Given the description of an element on the screen output the (x, y) to click on. 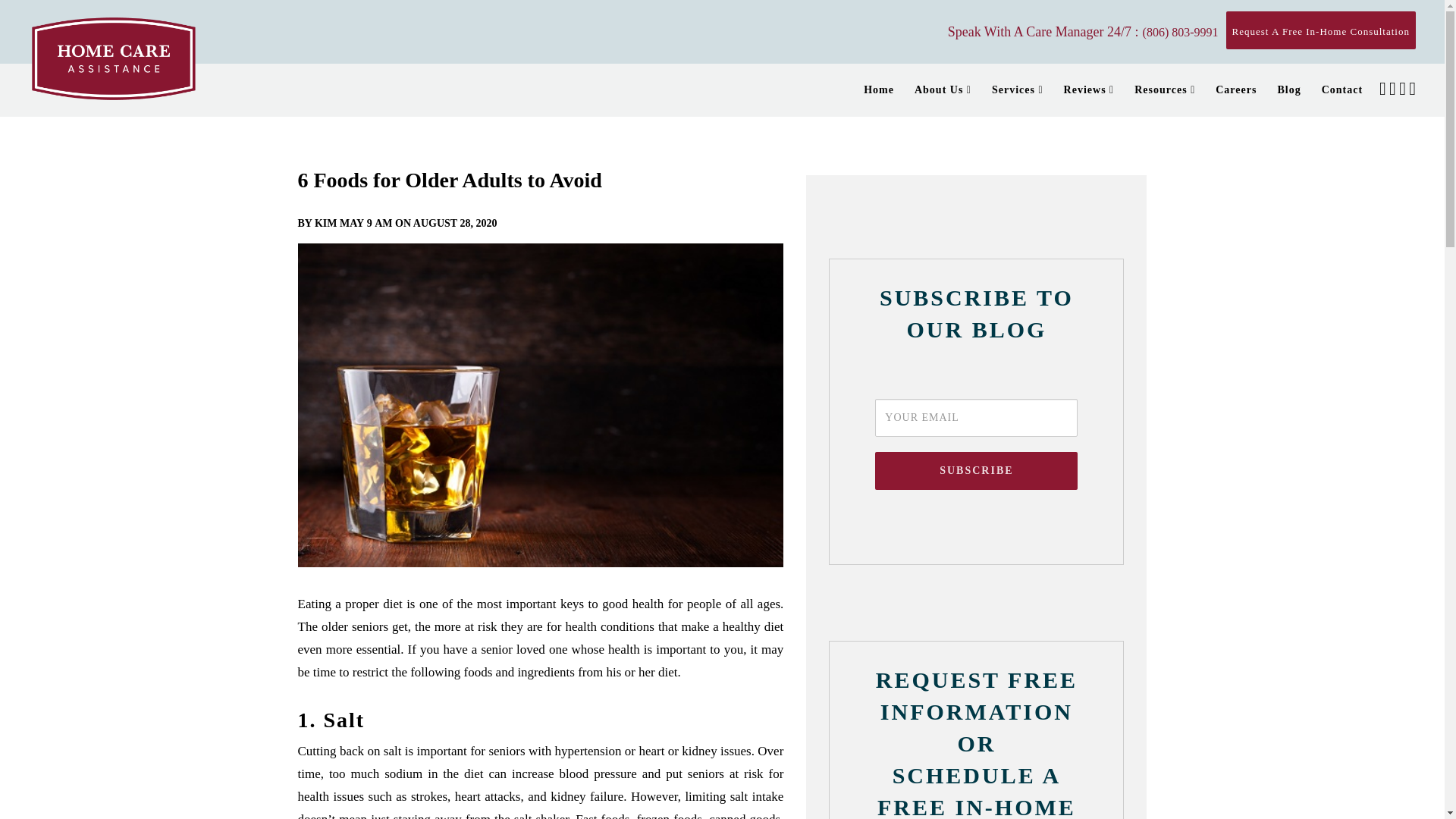
Request A Free In-Home Consultation (1320, 30)
About Us (938, 90)
Resources (1160, 90)
Subscribe (976, 470)
